Given the description of an element on the screen output the (x, y) to click on. 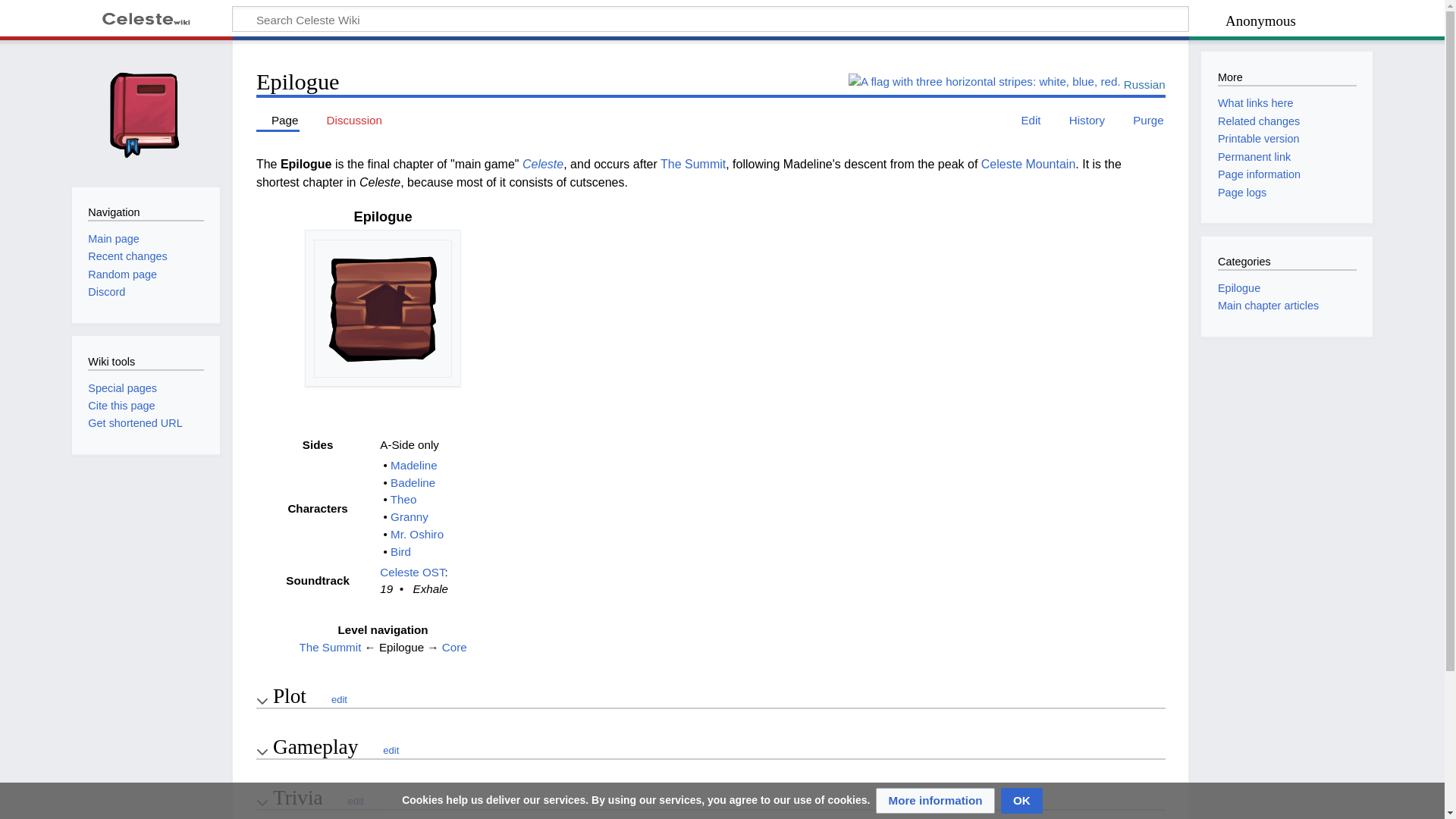
Search (1155, 21)
Search (1155, 21)
Page (277, 120)
Celeste OST (412, 571)
Theo (403, 499)
Go (1155, 21)
Badeline (412, 481)
Search (1155, 21)
The Summit (693, 164)
Go (1155, 21)
Purge (1142, 120)
Bird (400, 551)
History (1080, 120)
Madeline (414, 464)
Discussion (347, 120)
